Given the description of an element on the screen output the (x, y) to click on. 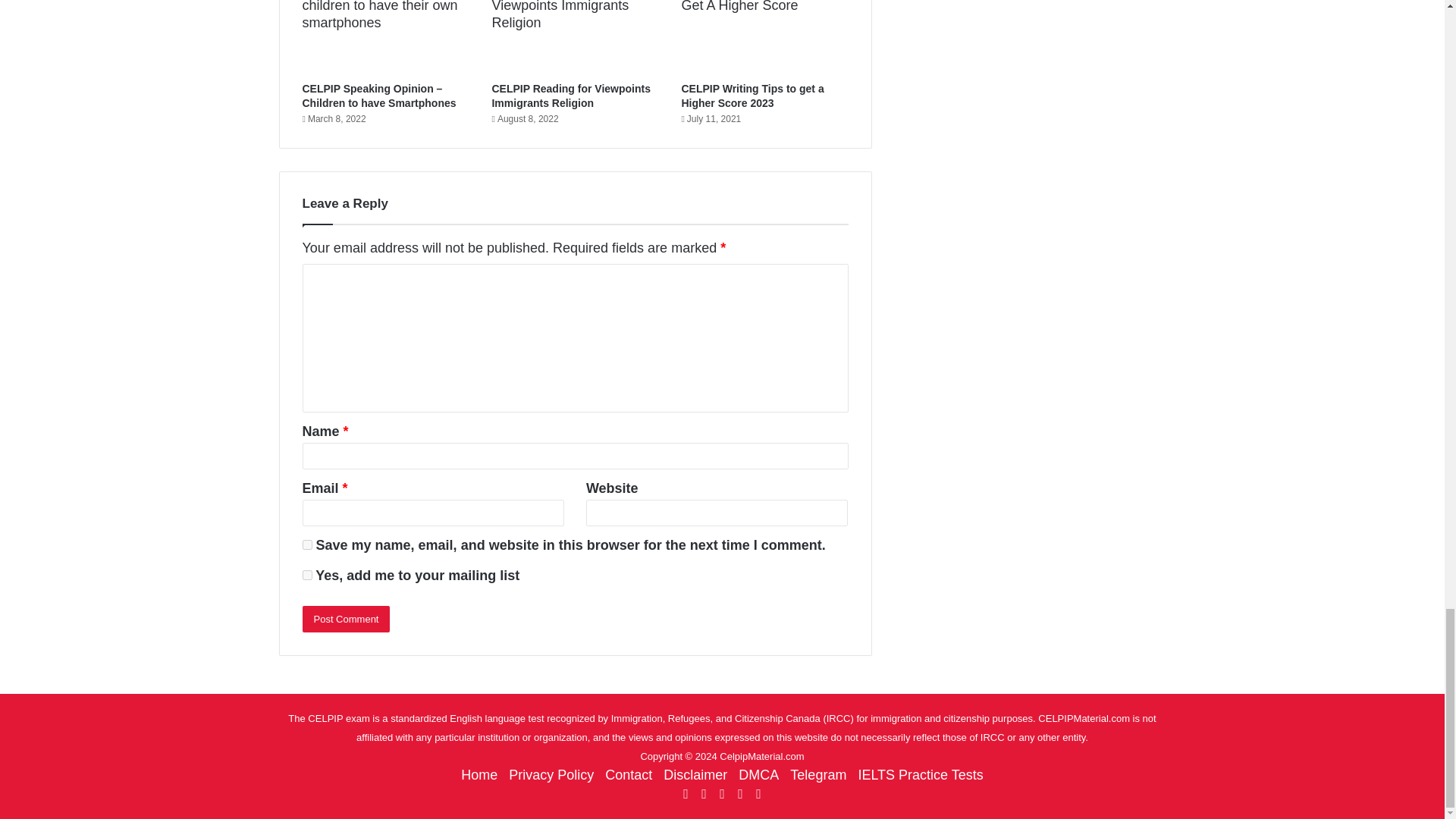
Post Comment (345, 619)
1 (306, 574)
yes (306, 544)
